Given the description of an element on the screen output the (x, y) to click on. 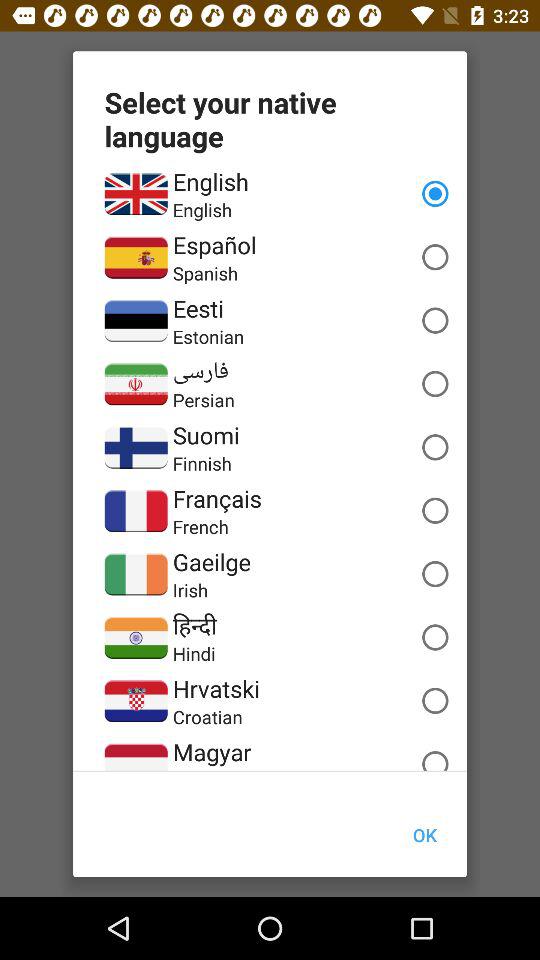
select the suomi icon (205, 435)
